Given the description of an element on the screen output the (x, y) to click on. 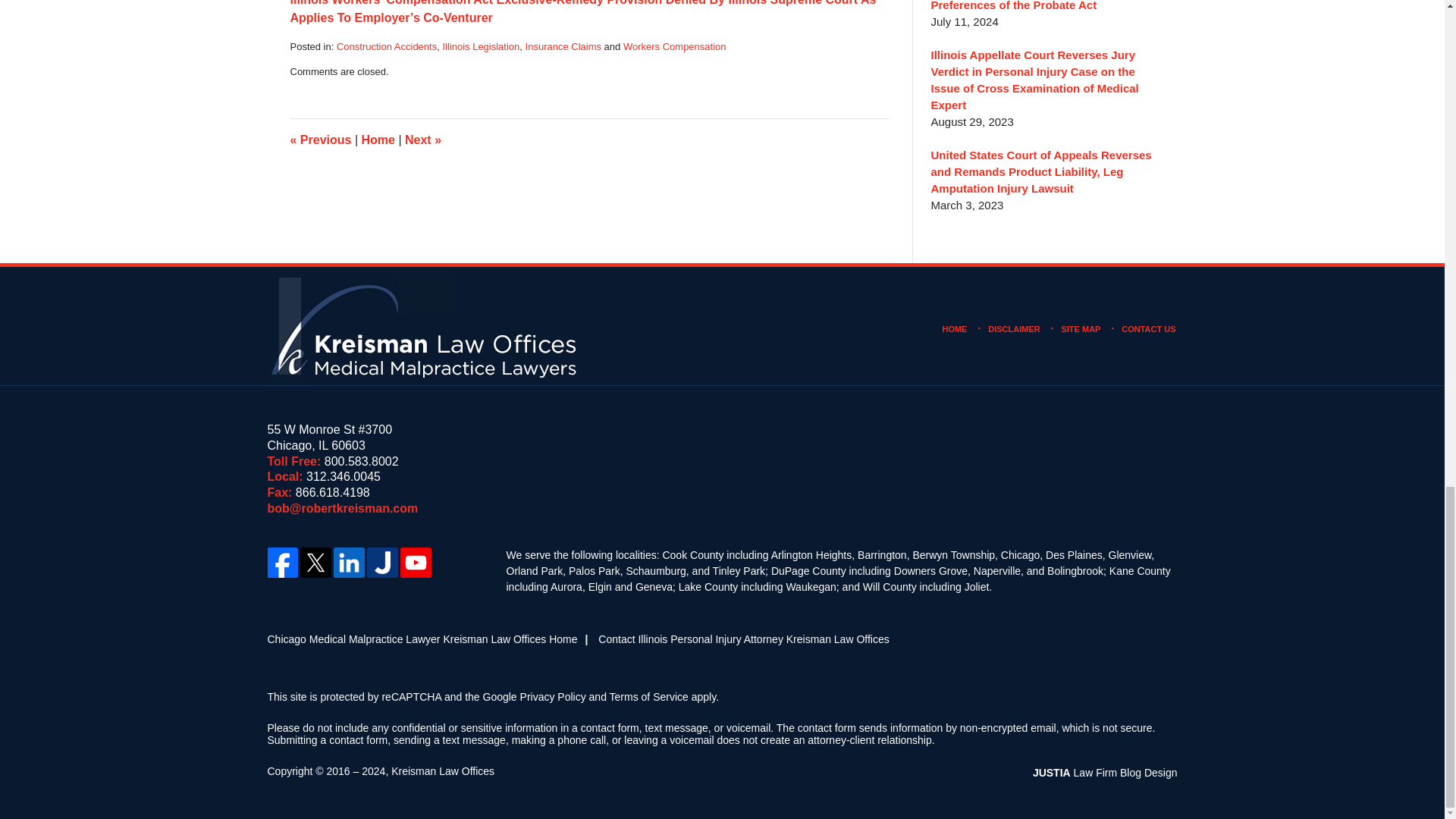
View all posts in Construction Accidents (386, 46)
Justia (381, 562)
Twitter (314, 562)
LinkedIn (348, 562)
View all posts in Workers Compensation (674, 46)
YouTube (415, 562)
View all posts in Illinois Legislation (480, 46)
Facebook (281, 562)
View all posts in Insurance Claims (563, 46)
